Given the description of an element on the screen output the (x, y) to click on. 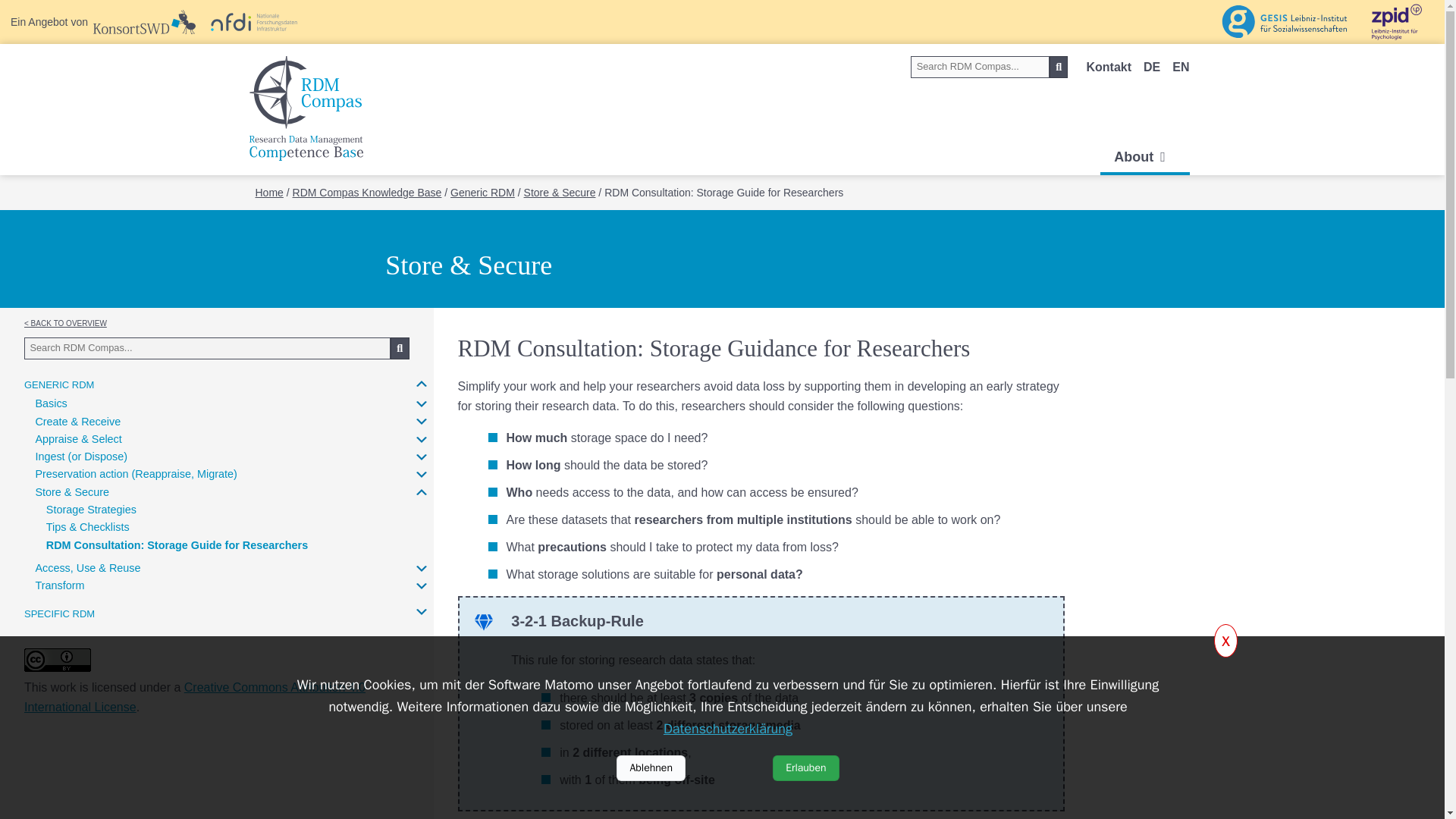
Generic RDM (482, 192)
RDM Compas Knowledge Base (367, 192)
Storage Strategies (91, 509)
Transform (59, 585)
Generic RDM (59, 382)
Home (268, 192)
About (1144, 157)
Basics (50, 403)
Back to homepage (304, 102)
Kontakt (1108, 67)
RDM Consultation: Storage Guide for Researchers (176, 544)
